Given the description of an element on the screen output the (x, y) to click on. 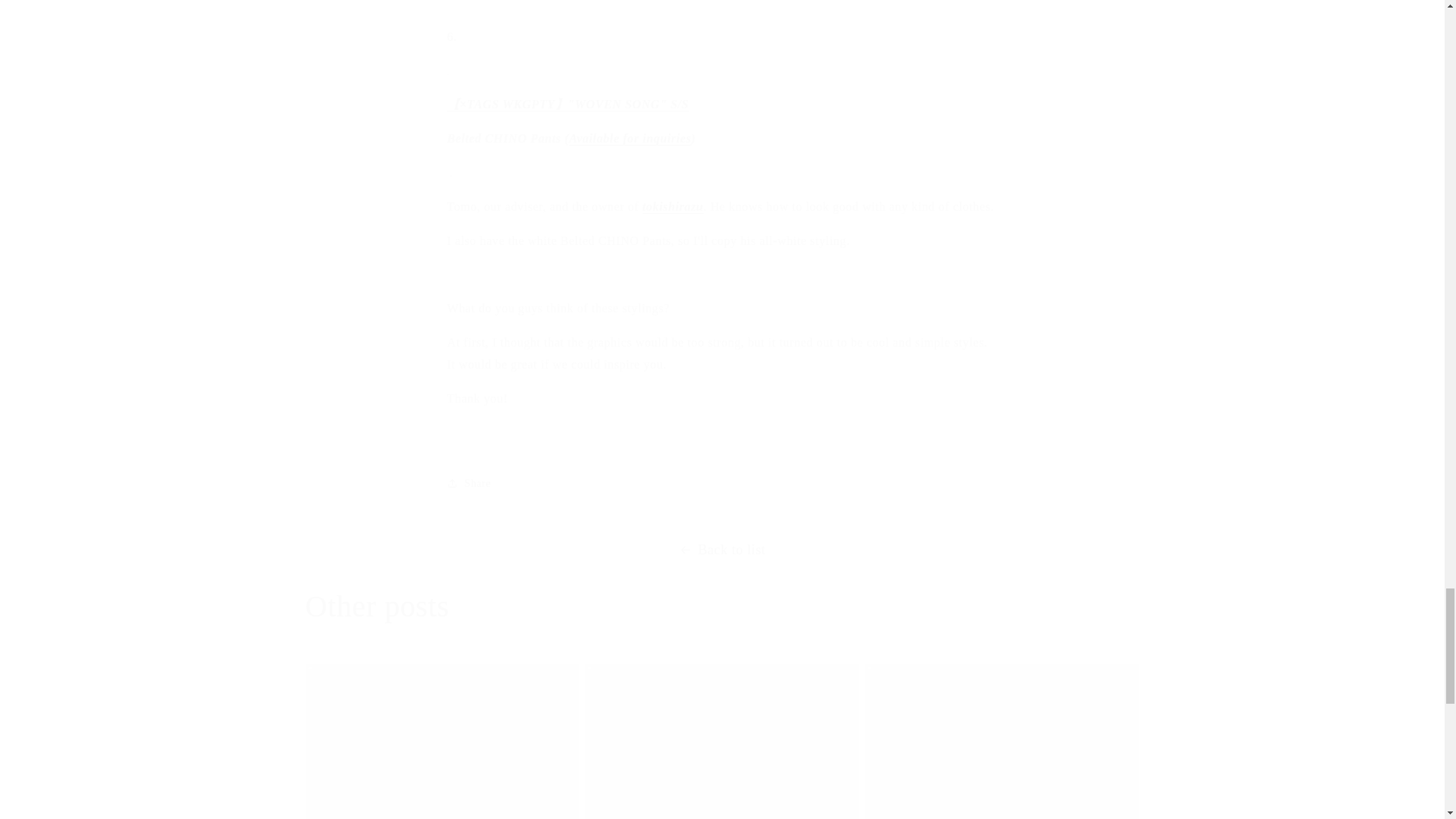
Other posts (376, 606)
Share (721, 482)
CONTACT (629, 137)
